Given the description of an element on the screen output the (x, y) to click on. 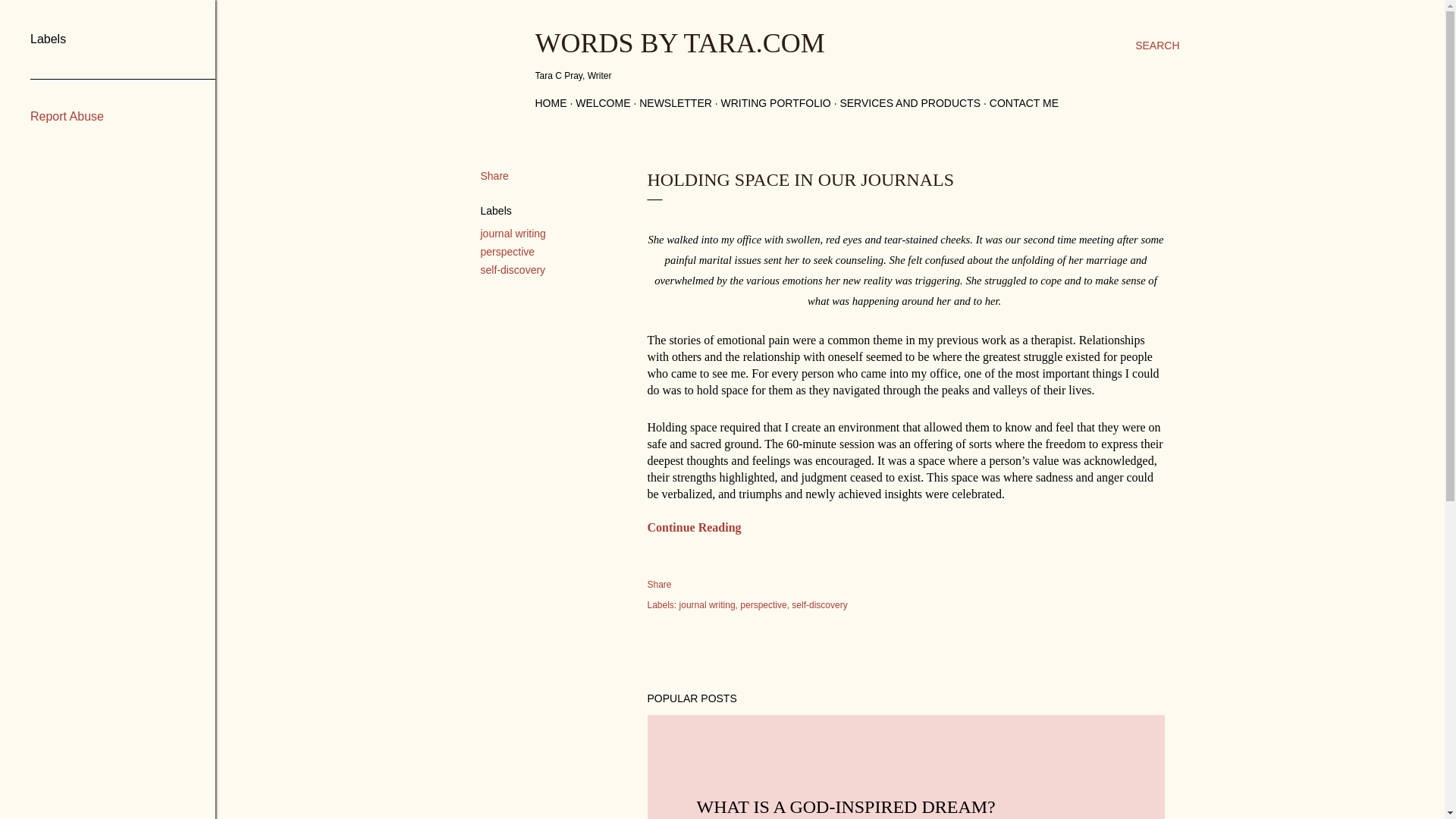
Continue Reading (694, 526)
journal writing (513, 233)
perspective (764, 604)
perspective (507, 251)
NEWSLETTER (675, 102)
self-discovery (513, 269)
HOME (551, 102)
WELCOME (602, 102)
CONTACT ME (1024, 102)
SEARCH (1157, 45)
self-discovery (819, 604)
WORDS BY TARA.COM (680, 42)
SERVICES AND PRODUCTS (909, 102)
WRITING PORTFOLIO (775, 102)
Share (494, 175)
